Given the description of an element on the screen output the (x, y) to click on. 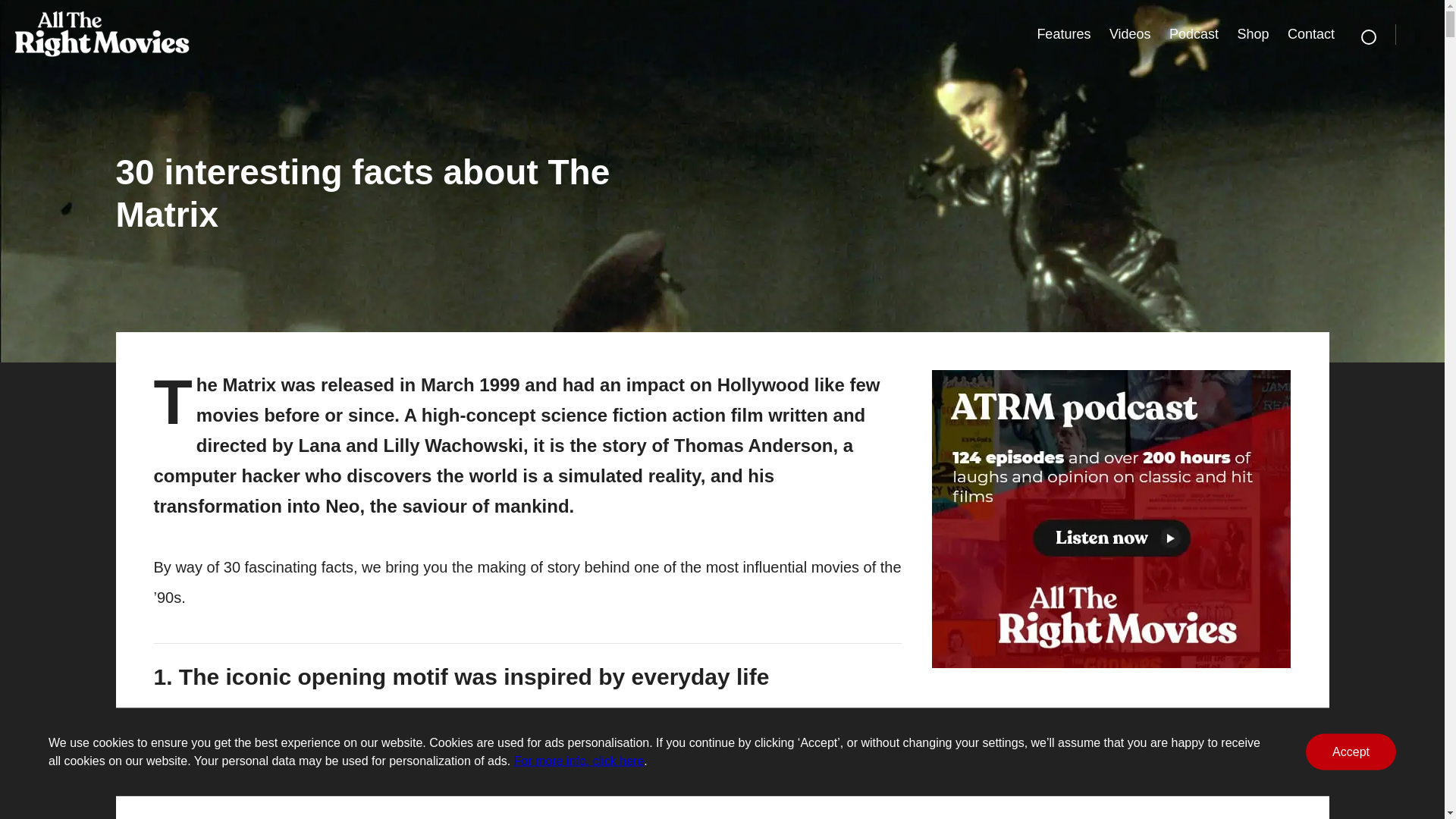
Videos (1130, 33)
Contact (1310, 33)
Podcast (1193, 33)
Features (1063, 33)
Shop (1253, 33)
Search (1368, 37)
